Given the description of an element on the screen output the (x, y) to click on. 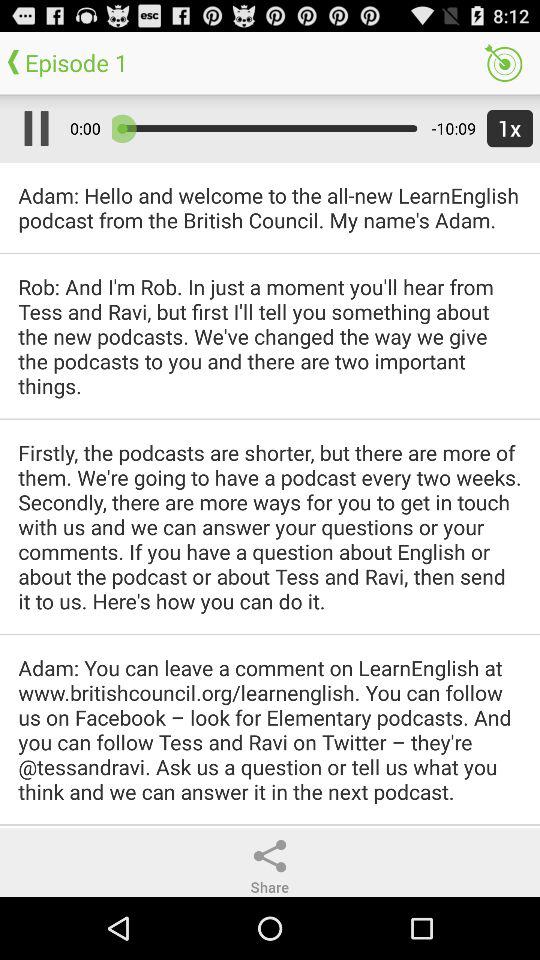
tap icon to the right of the -10:09 icon (506, 128)
